Given the description of an element on the screen output the (x, y) to click on. 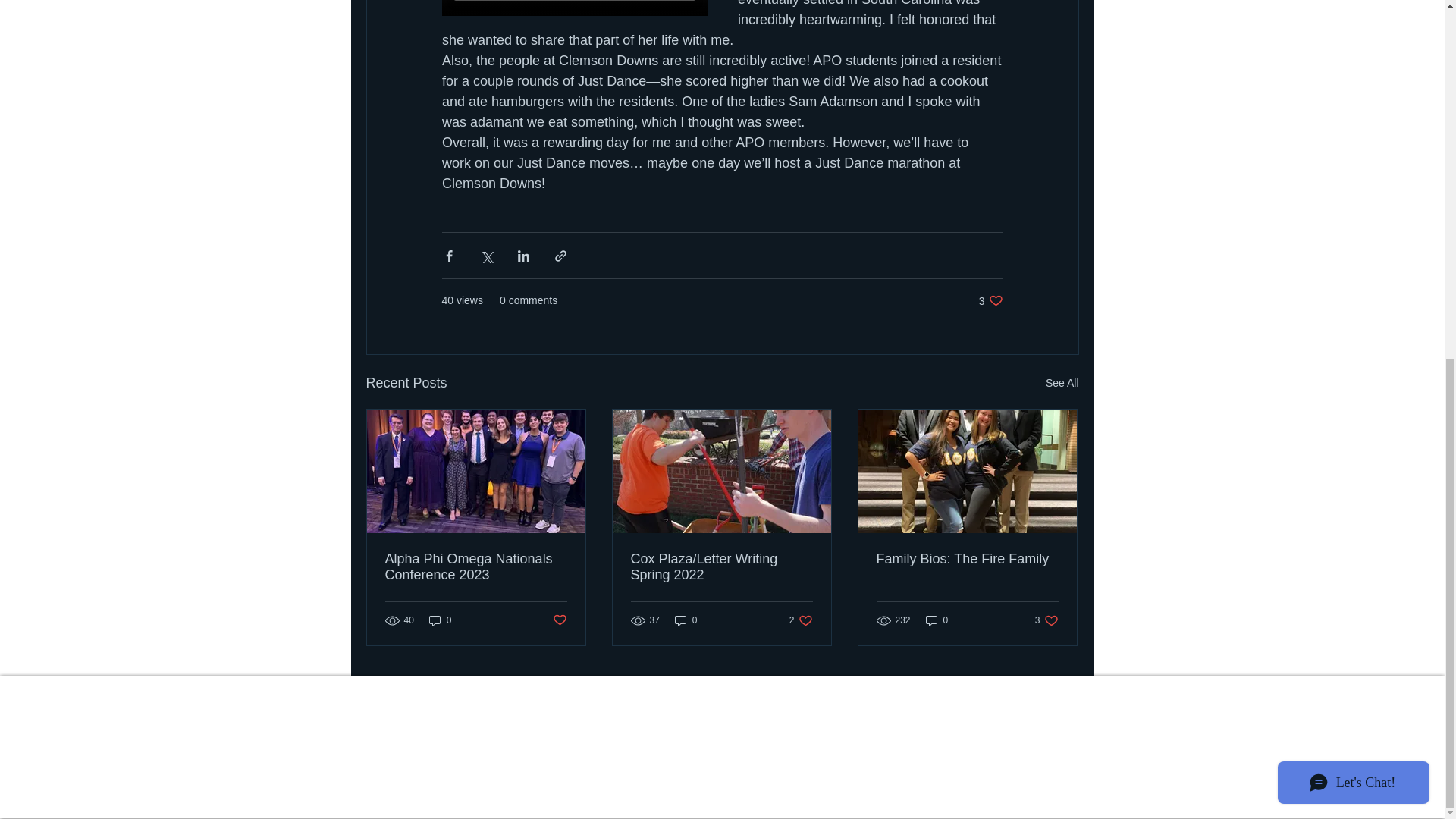
Alpha Phi Omega Nationals Conference 2023 (476, 567)
0 (685, 620)
Post not marked as liked (558, 619)
See All (800, 620)
0 (1061, 382)
Family Bios: The Fire Family (990, 300)
0 (440, 620)
